Given the description of an element on the screen output the (x, y) to click on. 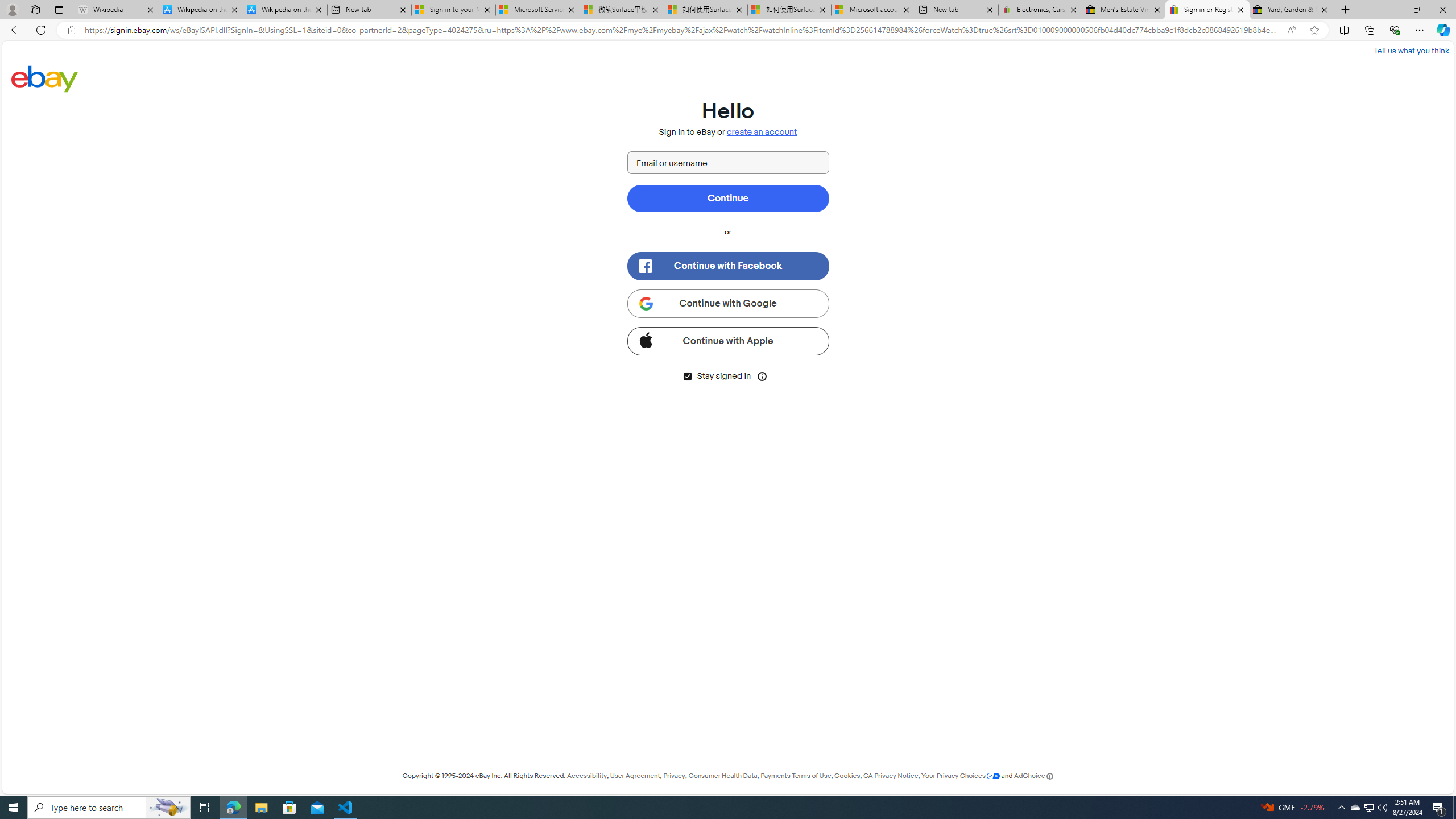
User Agreement (635, 775)
Microsoft account | Account Checkup (873, 9)
Sign in or Register | eBay (1206, 9)
Class: icon-btn tooltip__host icon-btn--transparent (762, 375)
CA Privacy Notice (890, 775)
eBay Home (44, 78)
Email or username (727, 162)
